Given the description of an element on the screen output the (x, y) to click on. 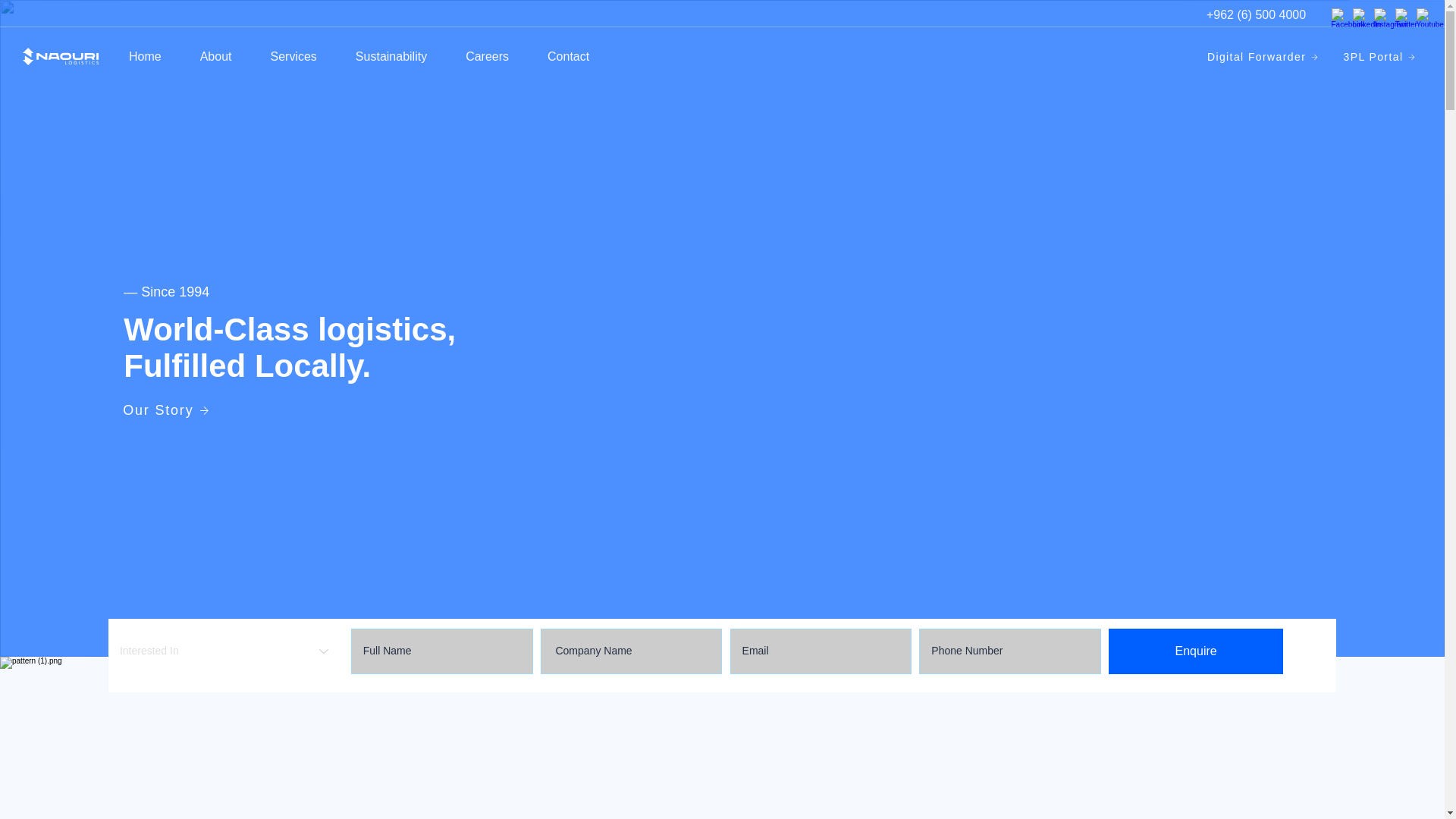
Contact (568, 56)
About (215, 56)
Careers (486, 56)
Digital Forwarder (1263, 56)
3PL Portal (1380, 56)
Sustainability (390, 56)
Services (292, 56)
